Given the description of an element on the screen output the (x, y) to click on. 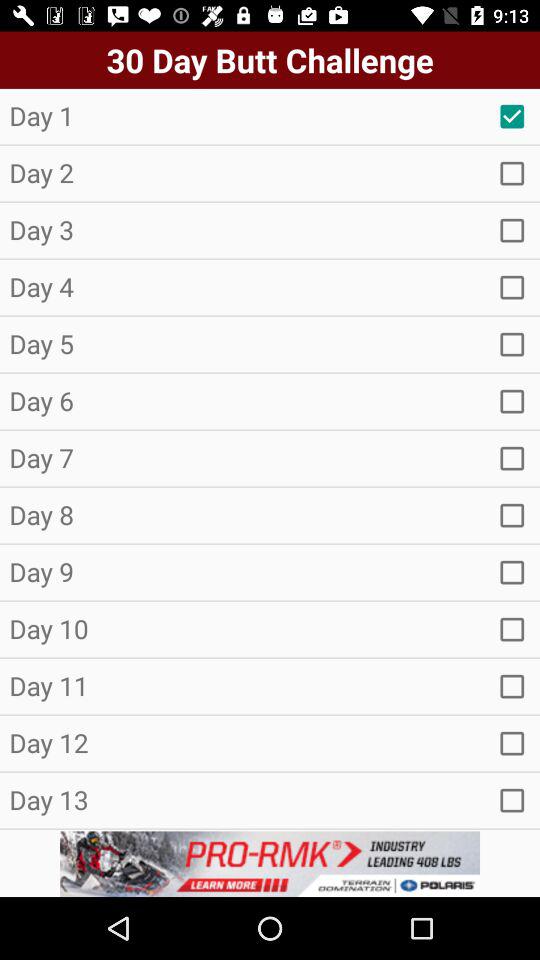
check for day1 (512, 116)
